Given the description of an element on the screen output the (x, y) to click on. 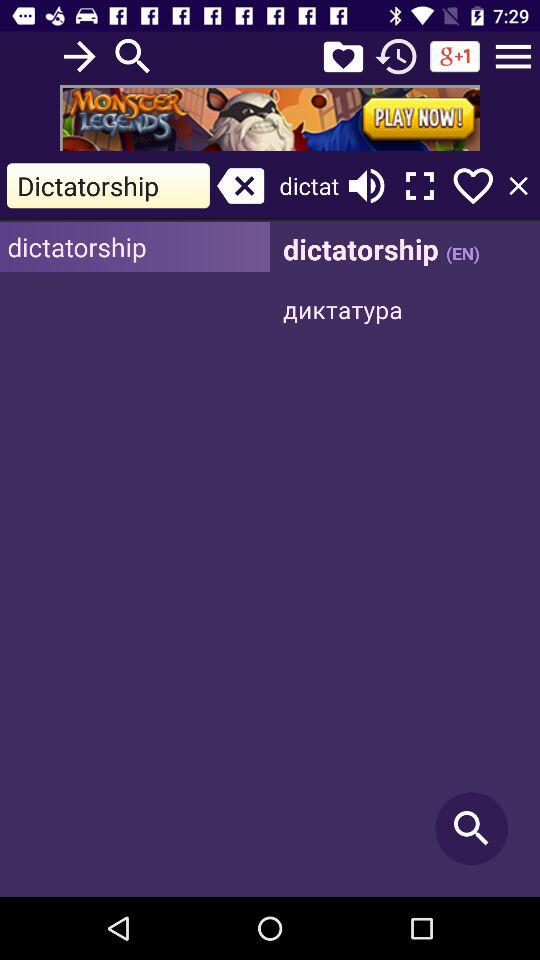
to search the word (133, 56)
